Given the description of an element on the screen output the (x, y) to click on. 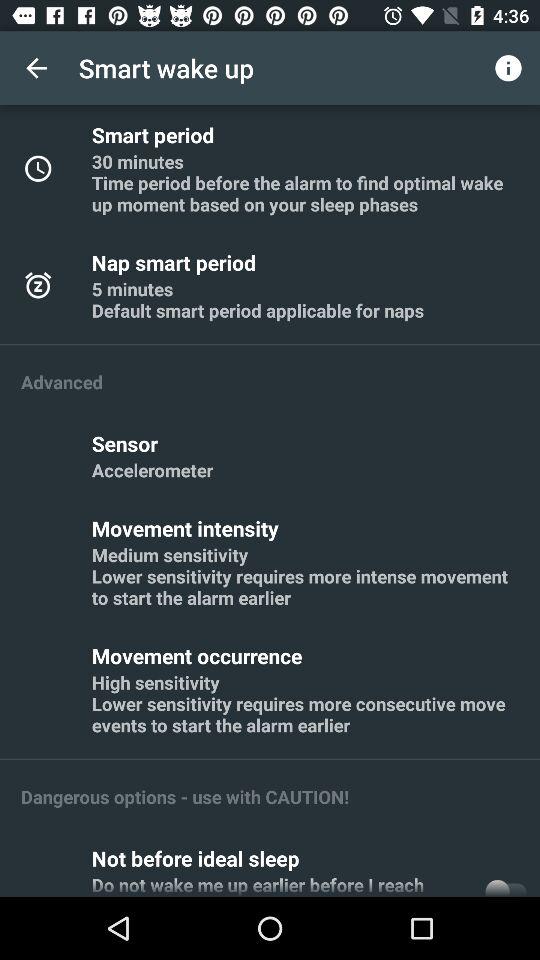
press the item to the right of do not wake item (505, 883)
